Given the description of an element on the screen output the (x, y) to click on. 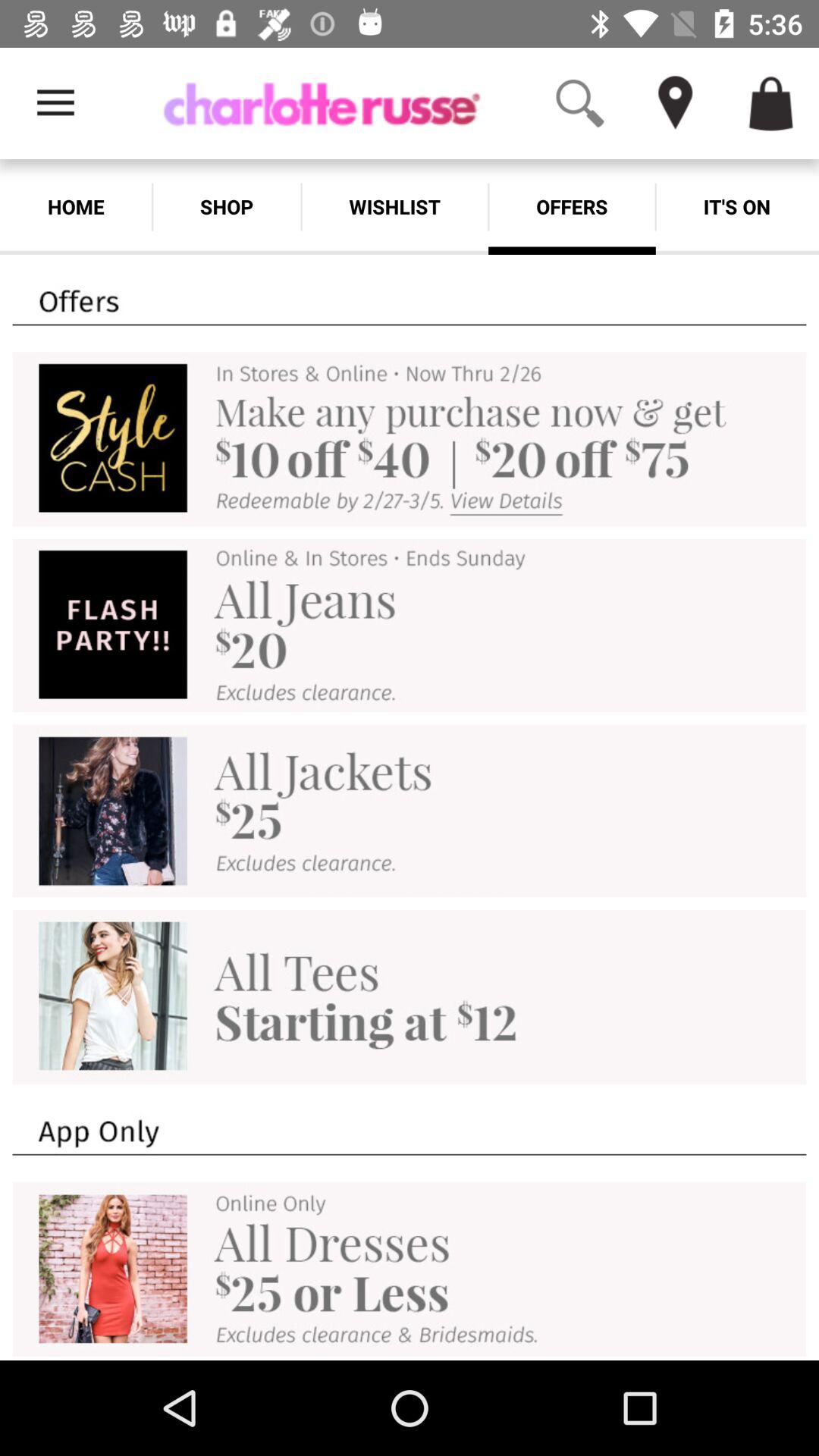
access your cart items you want to purchase (771, 103)
